Given the description of an element on the screen output the (x, y) to click on. 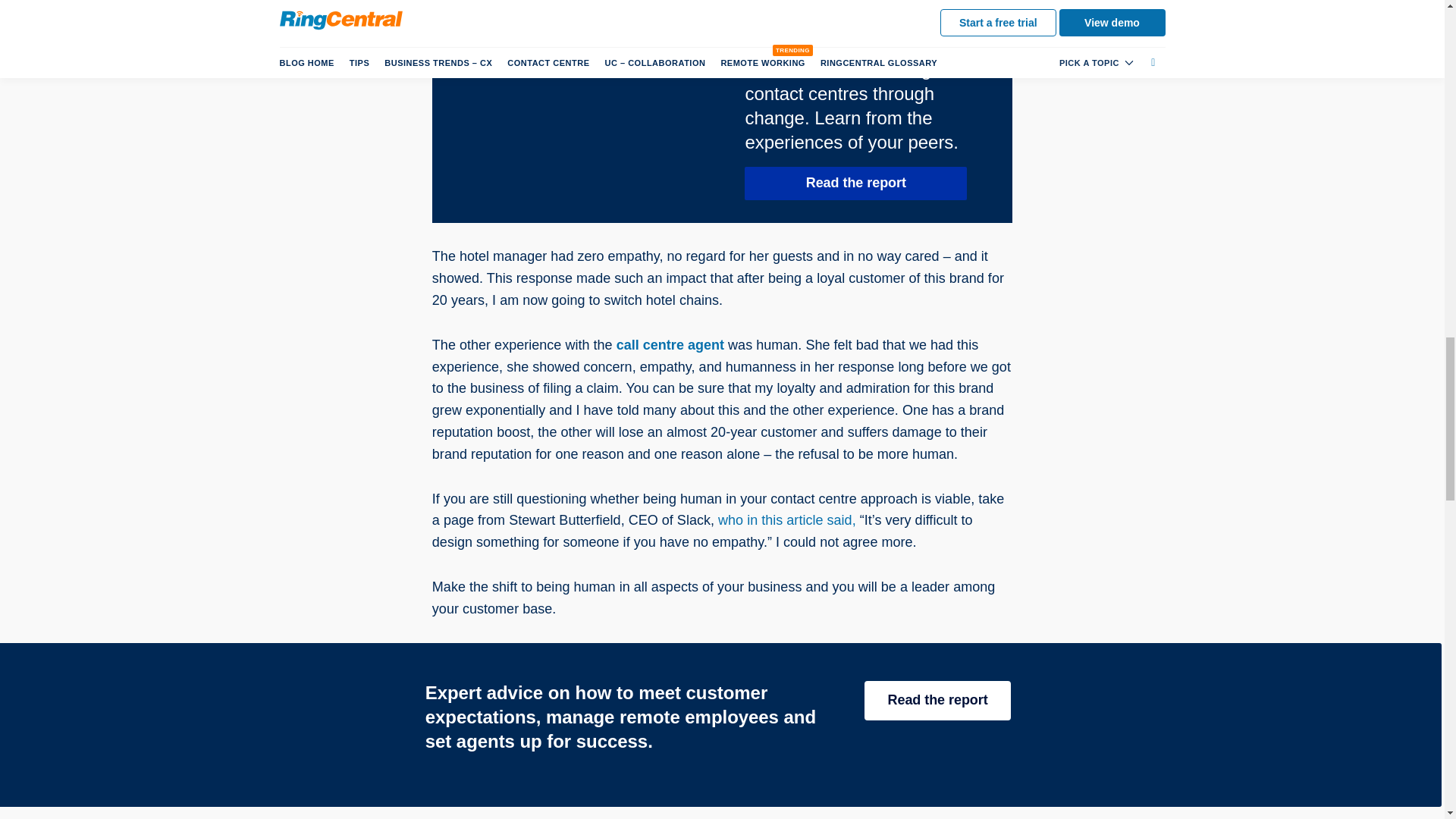
Read the report (855, 183)
Read the report (937, 700)
Read the report (855, 183)
call centre agent (669, 344)
Read the report (937, 700)
who in this article said, (786, 519)
